Given the description of an element on the screen output the (x, y) to click on. 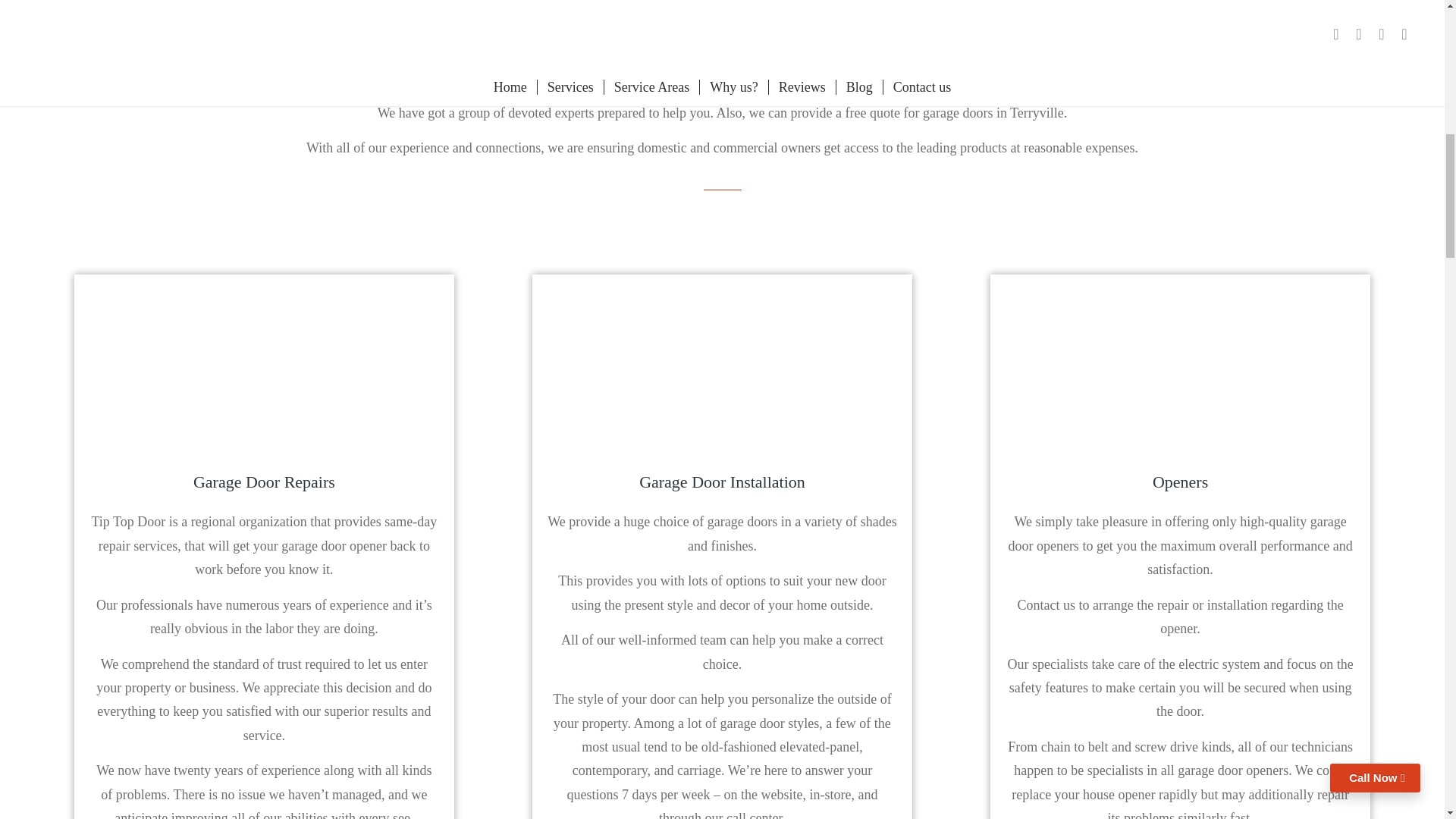
Garage Door Installation (722, 481)
Openers (1180, 481)
Garage Door Repairs (263, 481)
